Given the description of an element on the screen output the (x, y) to click on. 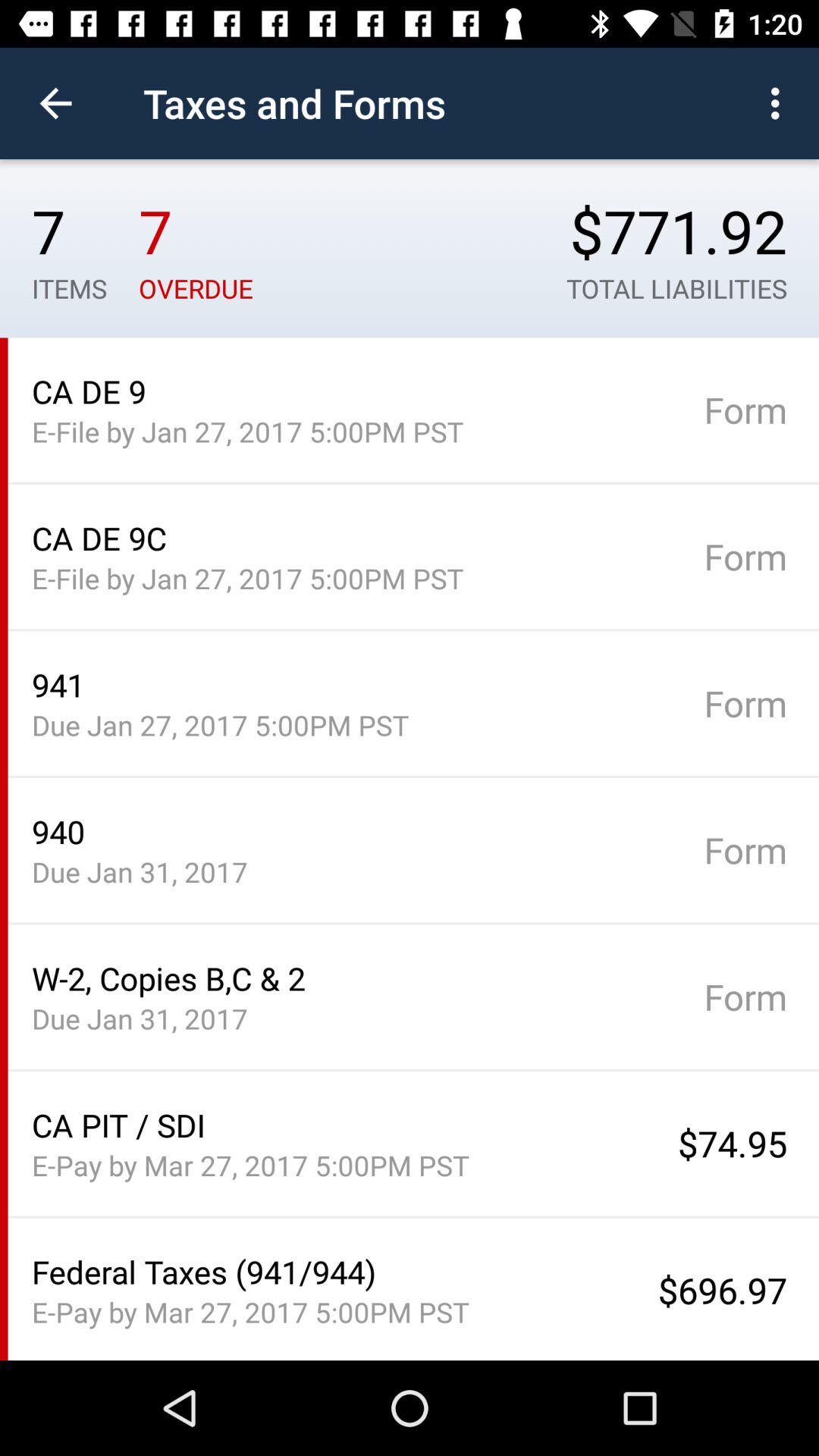
select icon to the right of the taxes and forms item (779, 103)
